Given the description of an element on the screen output the (x, y) to click on. 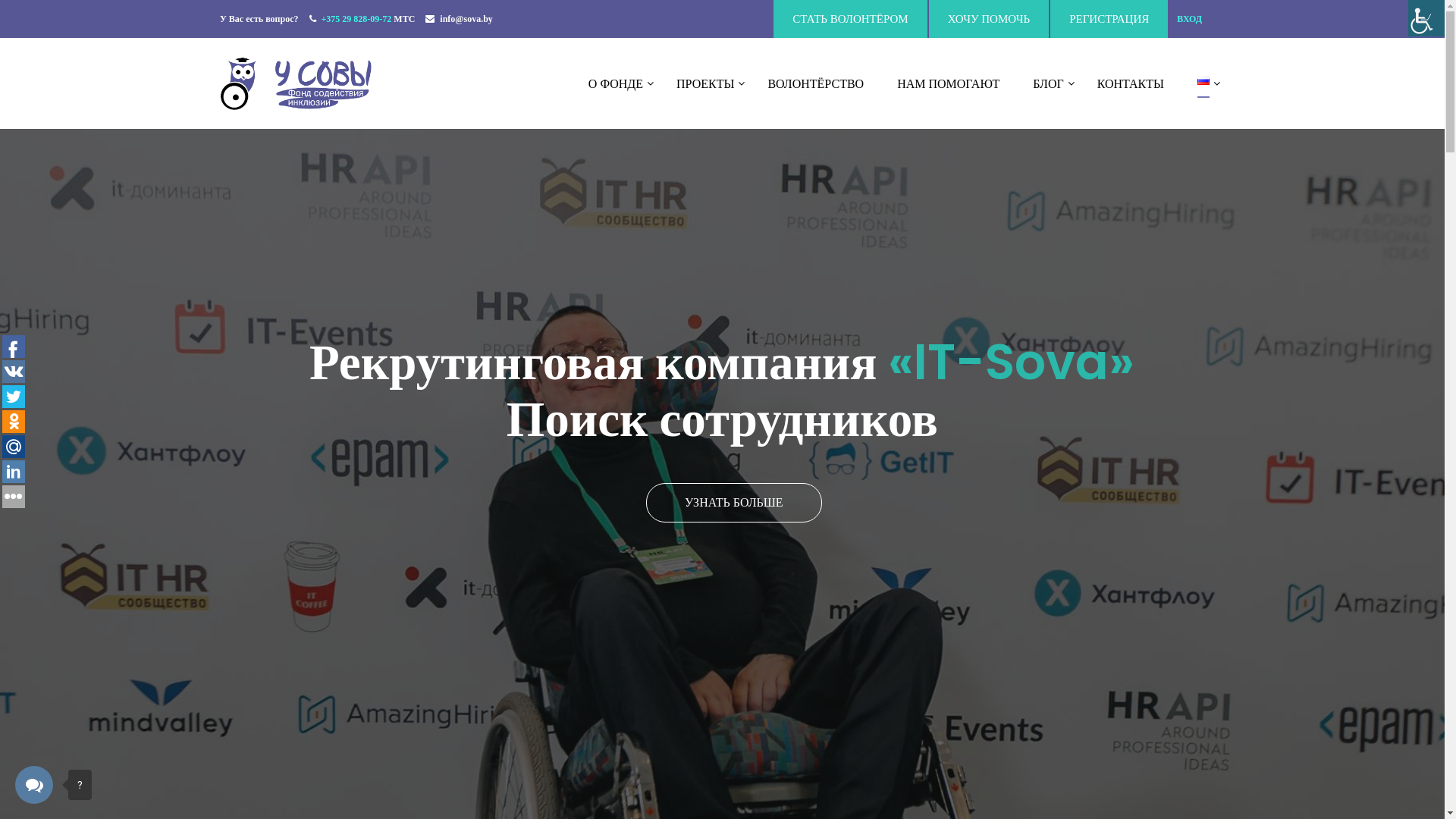
Accessibility Helper sidebar Element type: hover (1426, 18)
+375 29 828-09-72 Element type: text (357, 18)
Sign up Element type: text (885, 433)
